Given the description of an element on the screen output the (x, y) to click on. 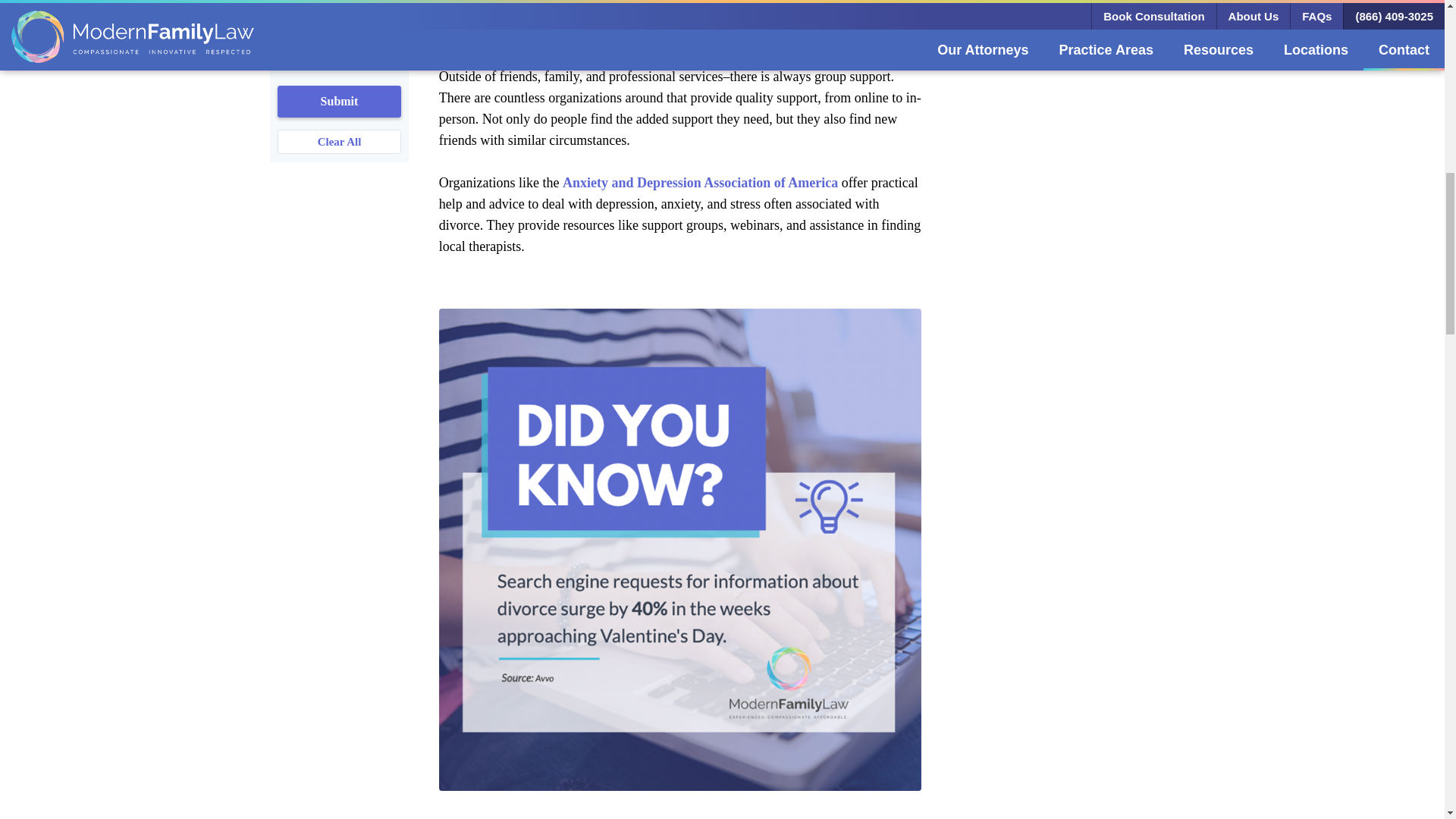
texas (285, 4)
washington (285, 27)
